Given the description of an element on the screen output the (x, y) to click on. 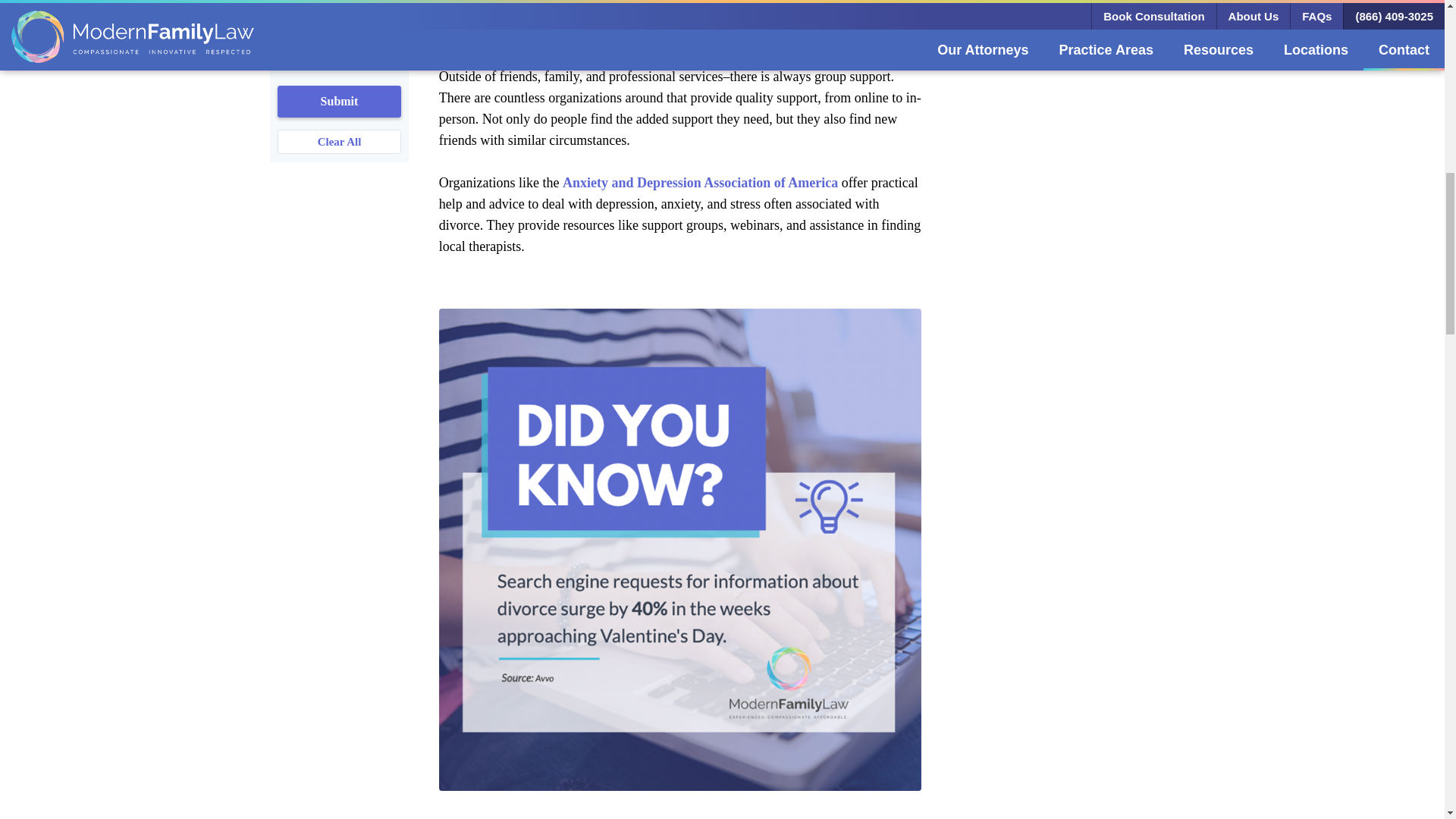
texas (285, 4)
washington (285, 27)
